Given the description of an element on the screen output the (x, y) to click on. 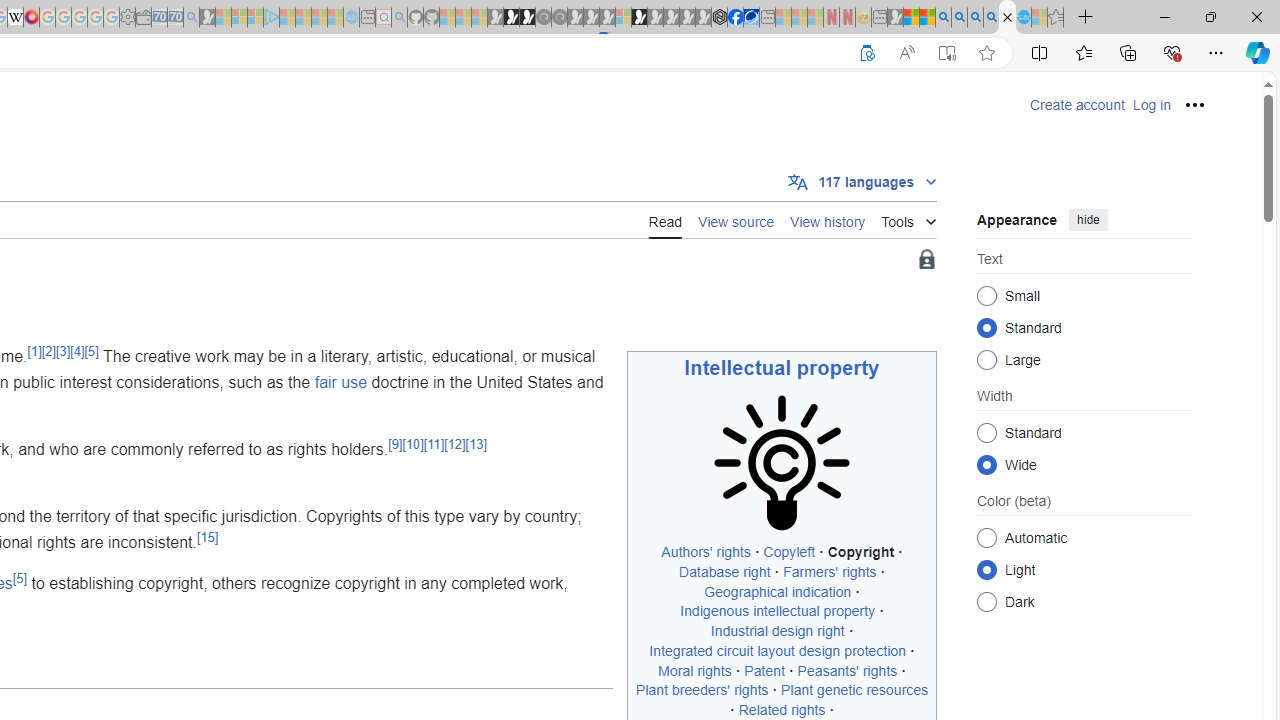
Class: sidebar-image (781, 463)
Moral rights (694, 669)
Related rights (781, 709)
Bing AI - Search (943, 17)
Home | Sky Blue Bikes - Sky Blue Bikes - Sleeping (351, 17)
Farmers' rights (829, 572)
[12] (454, 444)
Settings - Sleeping (127, 17)
